Given the description of an element on the screen output the (x, y) to click on. 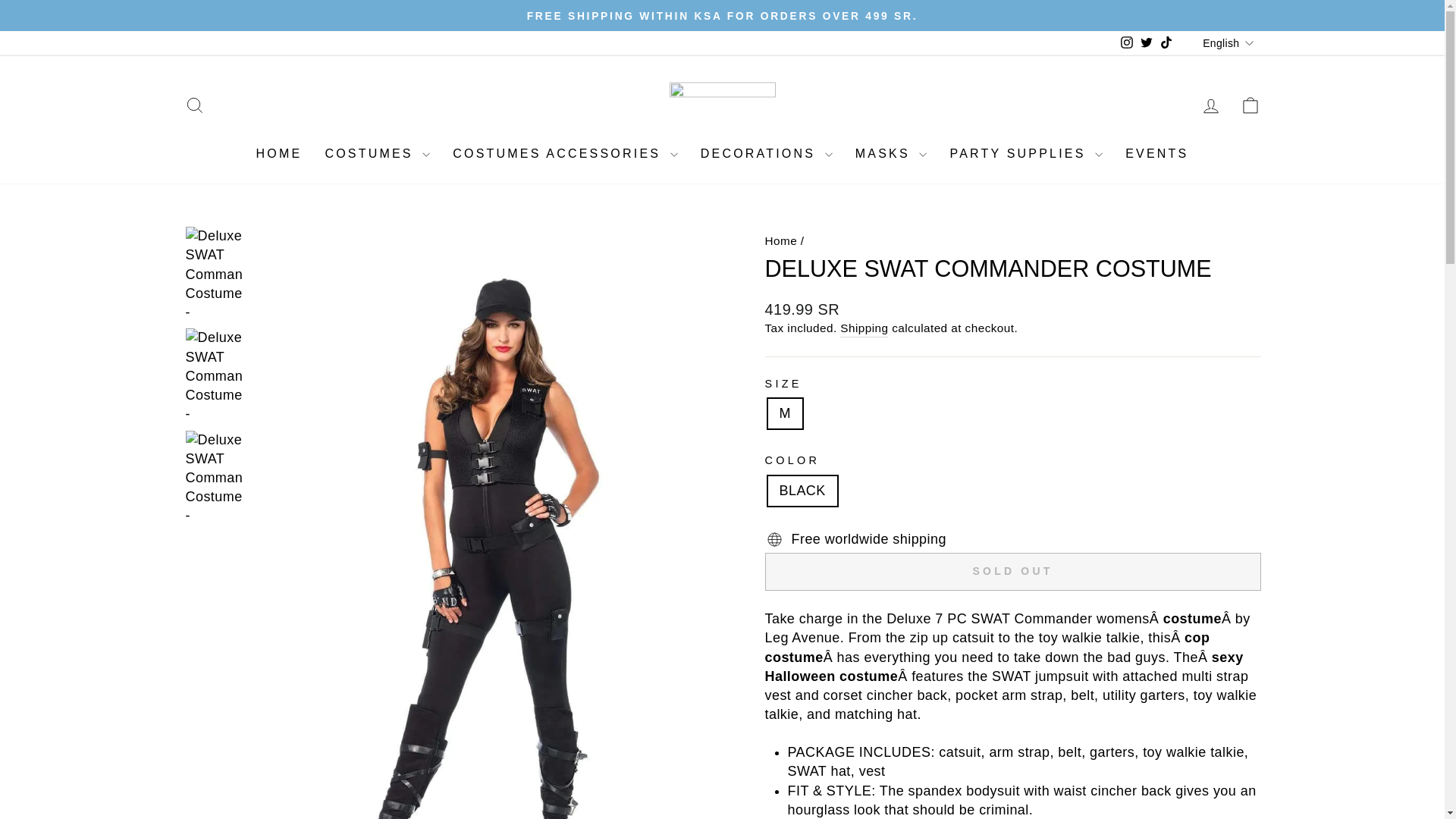
instagram (1126, 42)
ICON-BAG-MINIMAL (1249, 105)
PartyExperts on Instagram (1126, 42)
ICON-SEARCH (194, 105)
twitter (1146, 42)
PartyExperts on Twitter (1146, 42)
PartyExperts on TikTok (1166, 42)
Back to the frontpage (780, 240)
ACCOUNT (1210, 106)
